Given the description of an element on the screen output the (x, y) to click on. 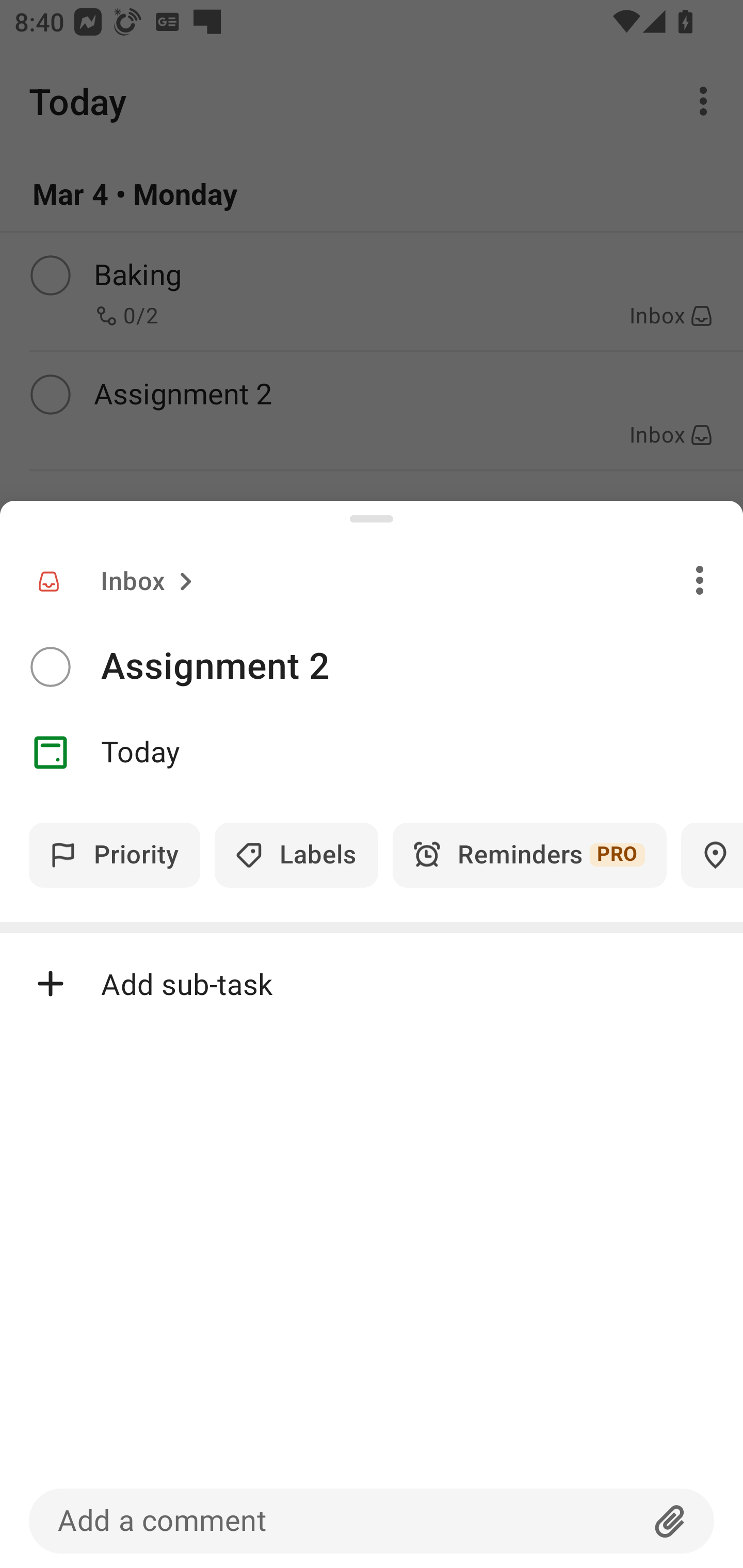
Overflow menu (699, 580)
Complete (50, 667)
Assignment 2​ (422, 666)
Date Today (371, 752)
Priority (113, 855)
Labels (296, 855)
Reminders PRO (529, 855)
Locations PRO (712, 855)
Add sub-task (371, 983)
Add a comment Attachment (371, 1520)
Attachment (670, 1520)
